Given the description of an element on the screen output the (x, y) to click on. 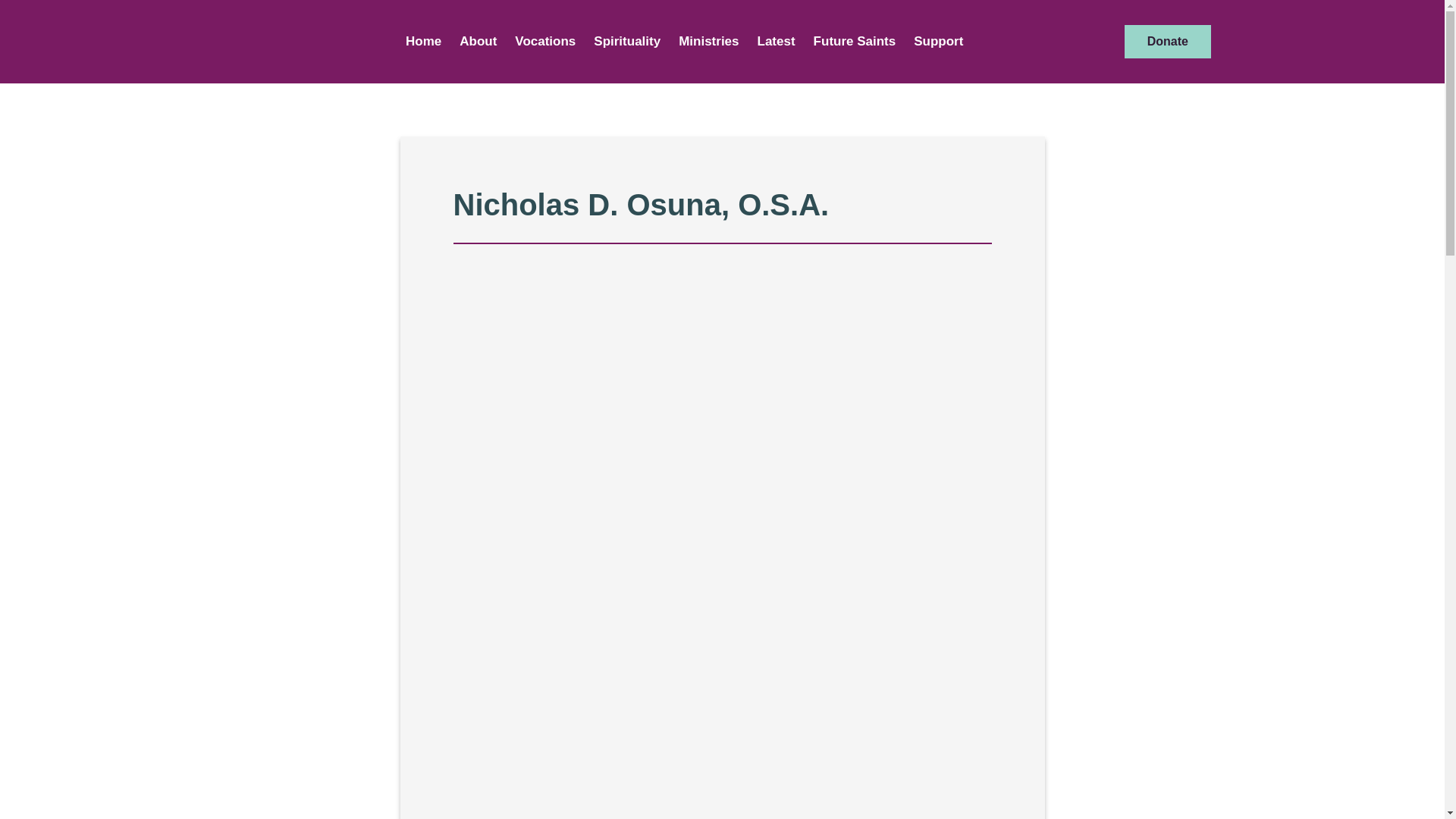
Future Saints (855, 41)
Home (422, 41)
Spirituality (627, 41)
Vocations (545, 41)
Ministries (708, 41)
Latest (776, 41)
Support (938, 41)
Donate (1167, 41)
About (477, 41)
